Given the description of an element on the screen output the (x, y) to click on. 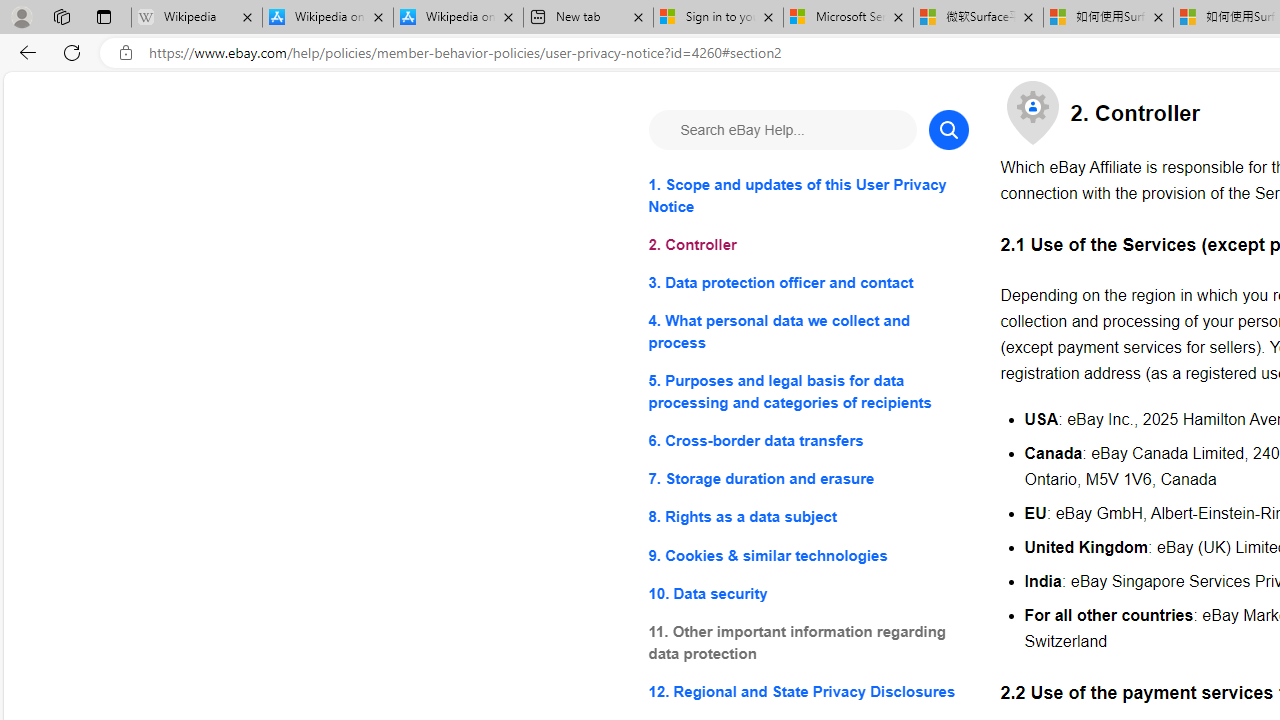
4. What personal data we collect and process (807, 332)
2. Controller (807, 245)
12. Regional and State Privacy Disclosures (807, 690)
6. Cross-border data transfers (807, 440)
9. Cookies & similar technologies (807, 555)
11. Other important information regarding data protection (807, 642)
10. Data security (807, 592)
4. What personal data we collect and process (807, 332)
